Given the description of an element on the screen output the (x, y) to click on. 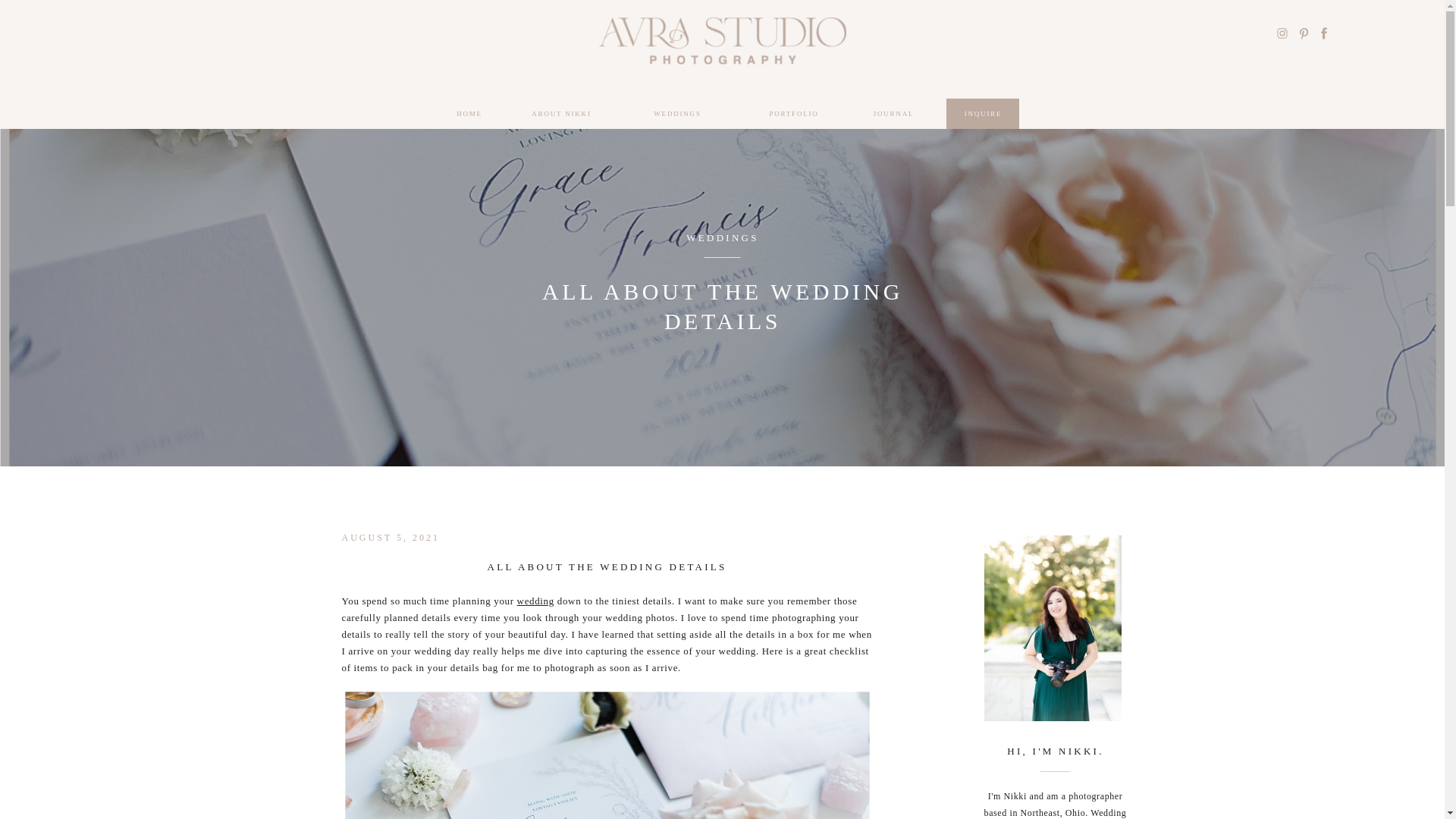
WEDDINGS (678, 114)
HOME (468, 114)
WEDDINGS (721, 237)
PORTFOLIO (793, 114)
JOURNAL (893, 114)
wedding (535, 600)
INQUIRE (983, 114)
ABOUT NIKKI (561, 114)
